Given the description of an element on the screen output the (x, y) to click on. 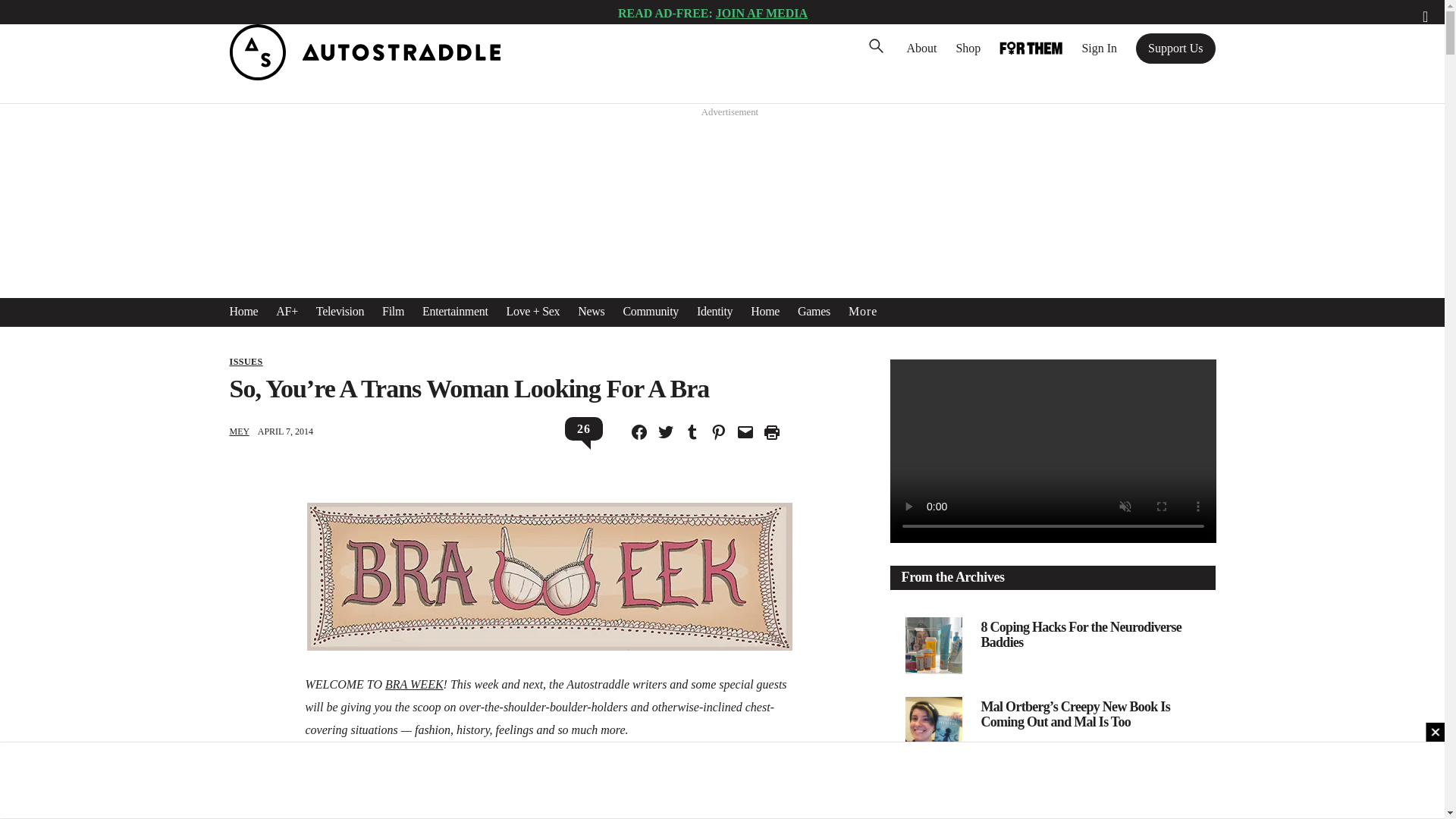
Shop (967, 48)
Search (34, 15)
Home (242, 311)
JOIN AF MEDIA (762, 12)
Posts by Mey (238, 430)
Autostraddle (363, 75)
Sign In (1098, 48)
Television (339, 311)
